Given the description of an element on the screen output the (x, y) to click on. 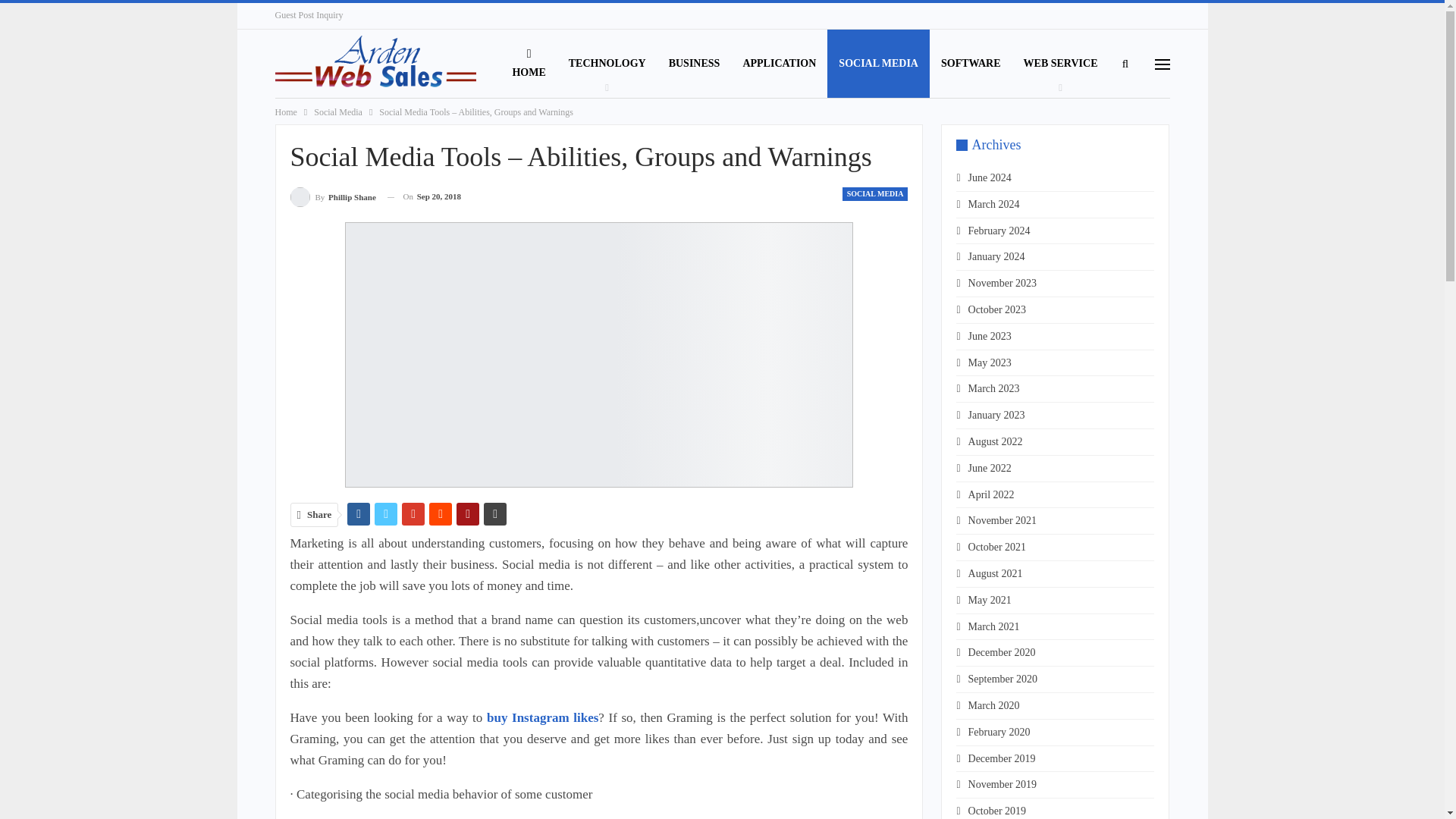
By Phillip Shane (332, 196)
Browse Author Articles (332, 196)
TECHNOLOGY (607, 63)
Guest Post Inquiry (308, 14)
WEB SERVICE (1060, 63)
BUSINESS (695, 63)
SOFTWARE (970, 63)
APPLICATION (778, 63)
Social Media (338, 112)
buy Instagram likes (542, 717)
